Given the description of an element on the screen output the (x, y) to click on. 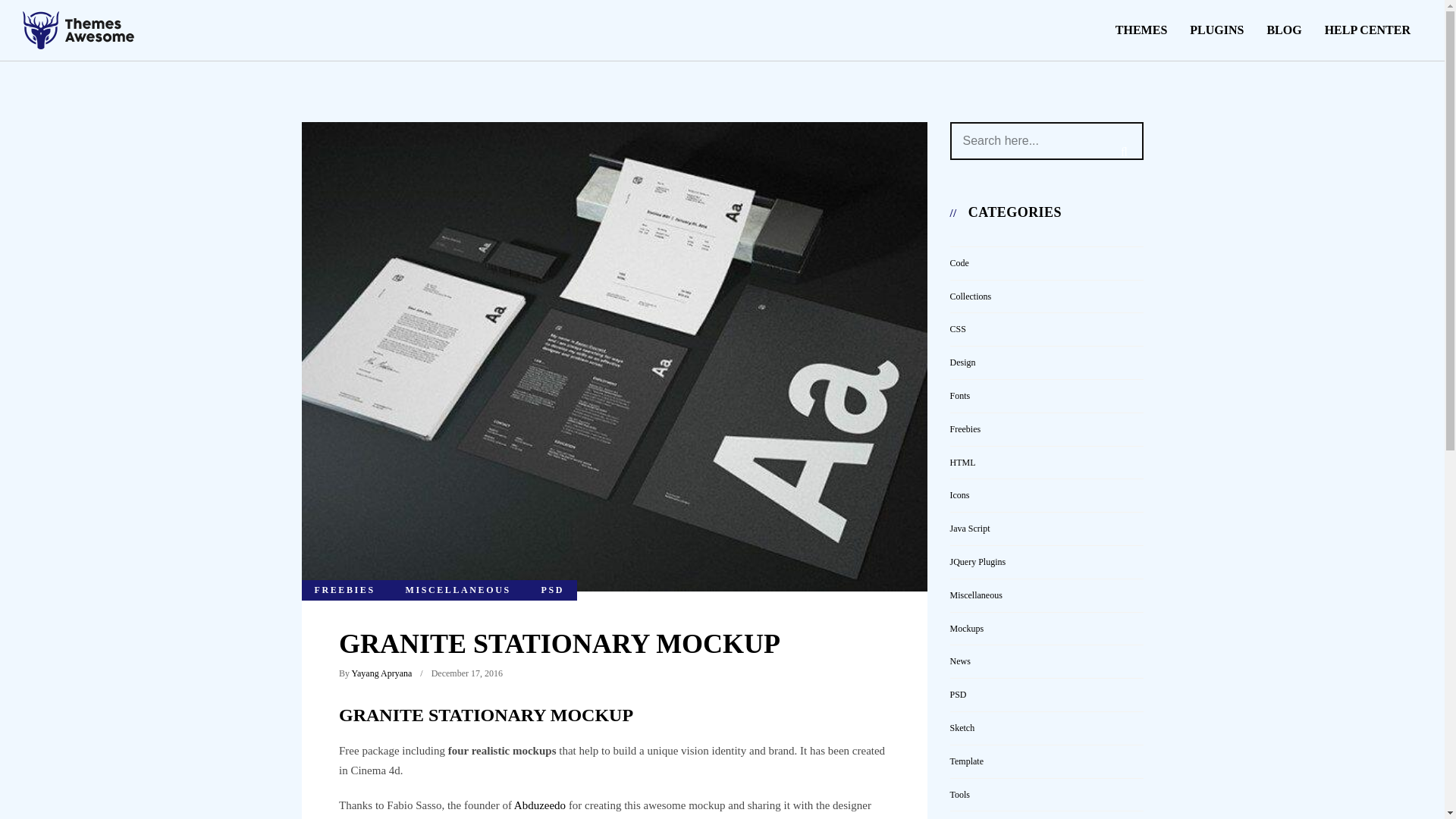
HTML (962, 462)
Yayang Apryana (382, 673)
PLUGINS (1216, 29)
GRANITE STATIONARY MOCKUP (559, 643)
Sketch (961, 727)
JQuery Plugins (977, 561)
Icons (959, 494)
Themes (1140, 29)
Tools (959, 794)
MISCELLANEOUS (458, 589)
Help Center (1367, 29)
News (959, 661)
Design (962, 362)
Mockups (966, 628)
